Given the description of an element on the screen output the (x, y) to click on. 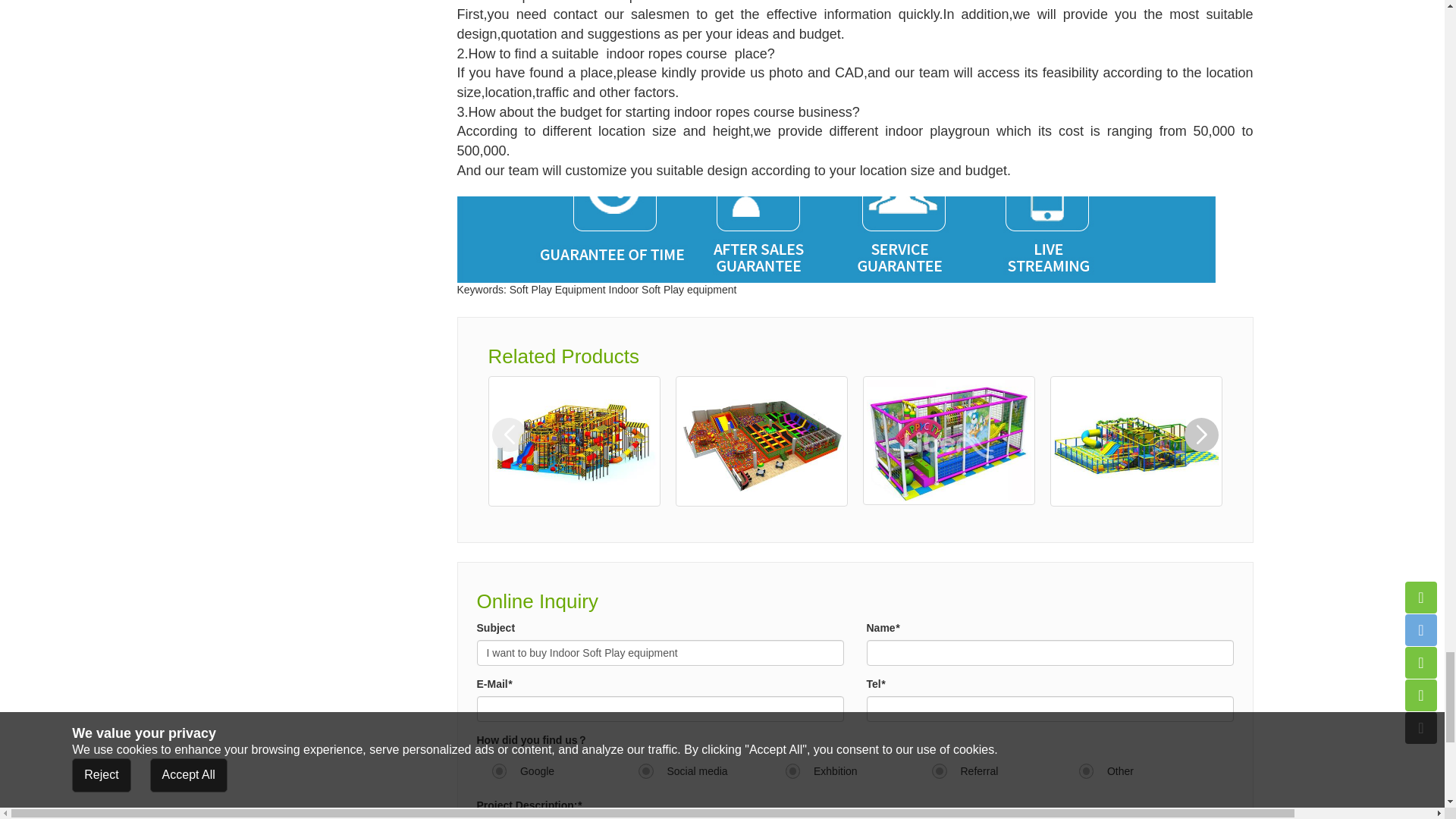
I want to buy Indoor Soft Play equipment (659, 652)
